Given the description of an element on the screen output the (x, y) to click on. 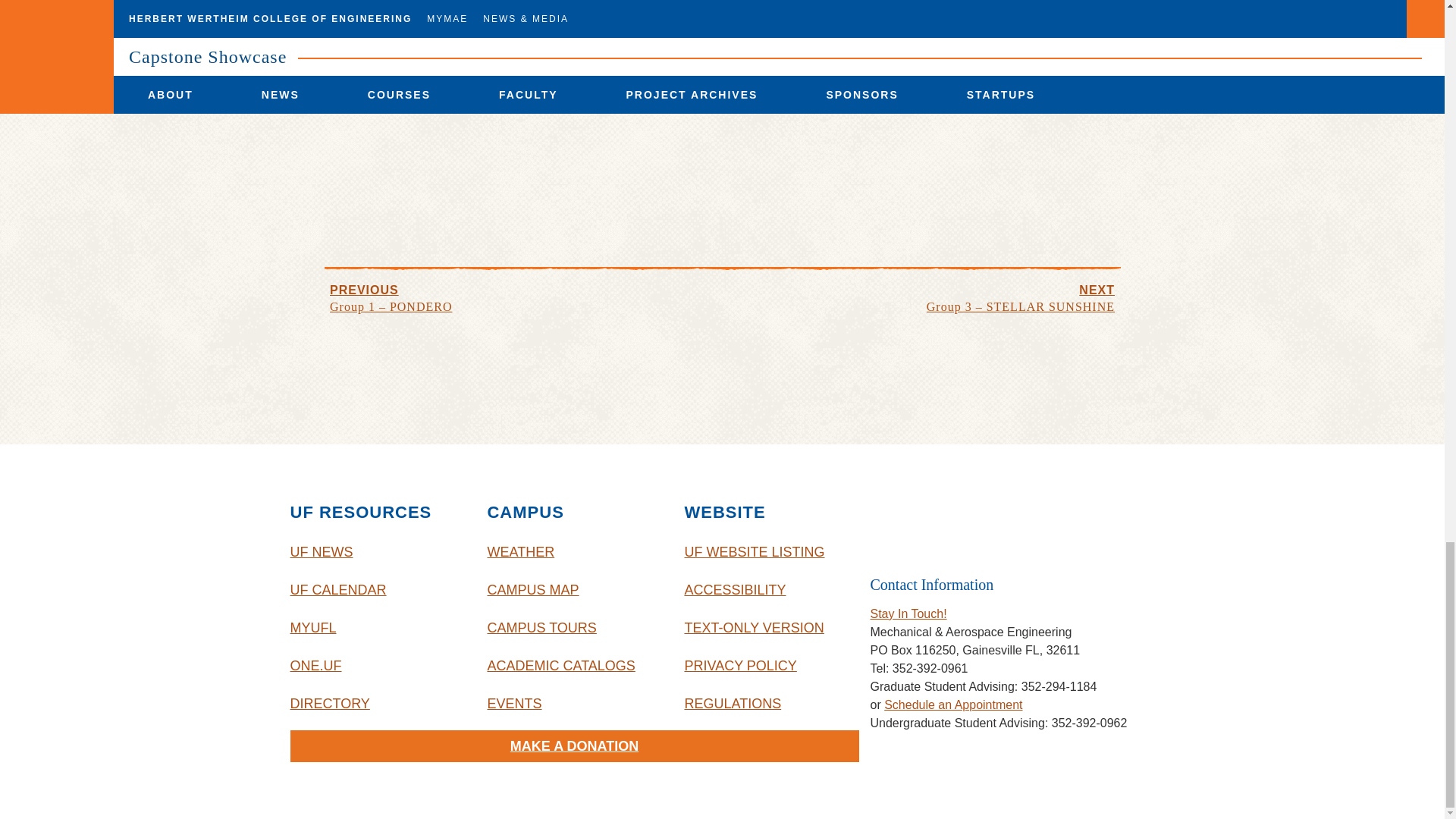
EVENTS (573, 703)
CAMPUS MAP (573, 589)
UF NEWS (376, 551)
Schedule an Appointment (952, 704)
ACADEMIC CATALOGS (573, 665)
ONE.UF (376, 665)
University of Florida (992, 523)
CAMPUS TOURS (573, 628)
MYUFL (376, 628)
DIRECTORY (376, 703)
Stay In Touch! (908, 613)
WEATHER (573, 551)
UF CALENDAR (376, 589)
